Given the description of an element on the screen output the (x, y) to click on. 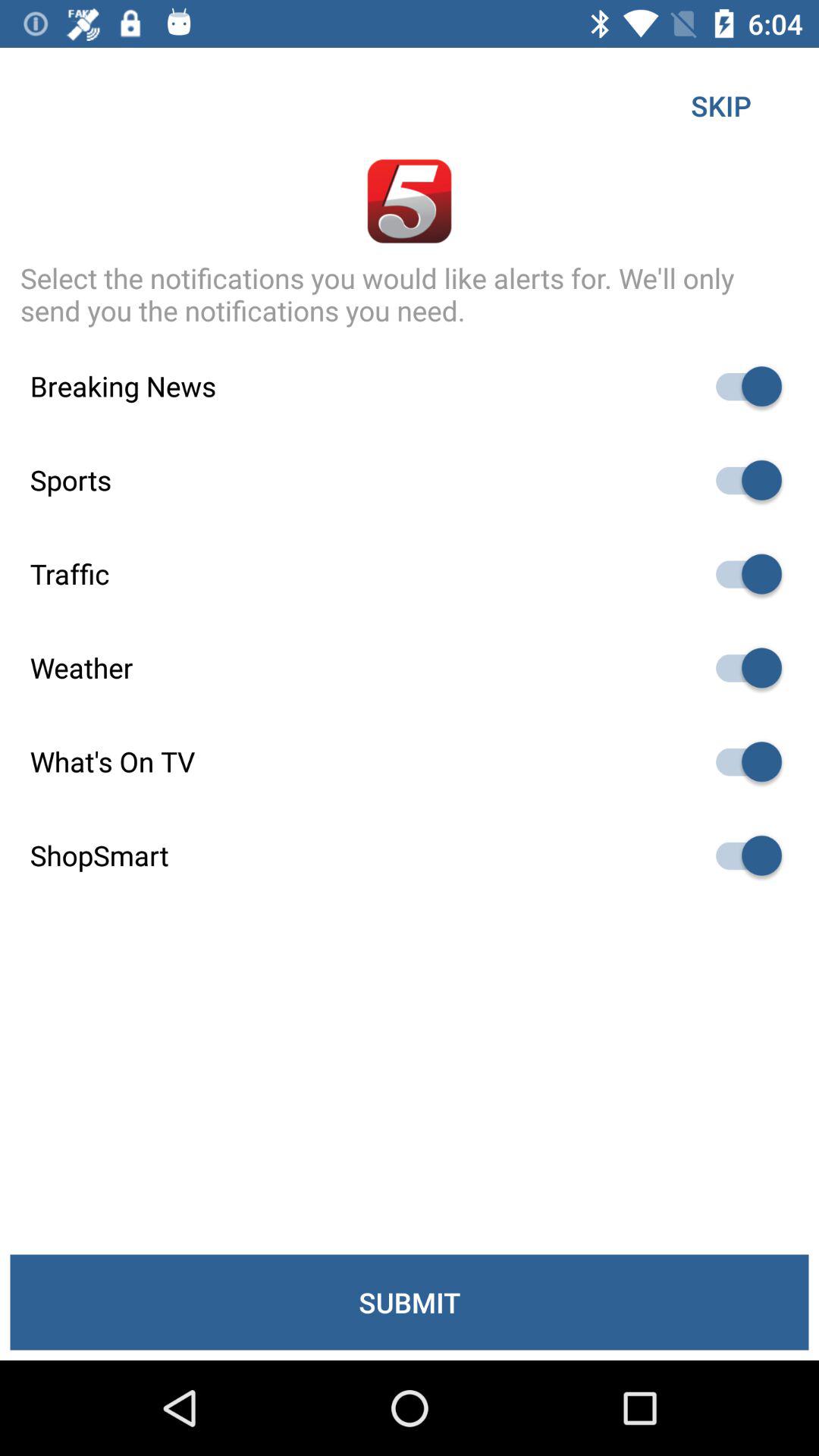
remove sports notifications (741, 480)
